Given the description of an element on the screen output the (x, y) to click on. 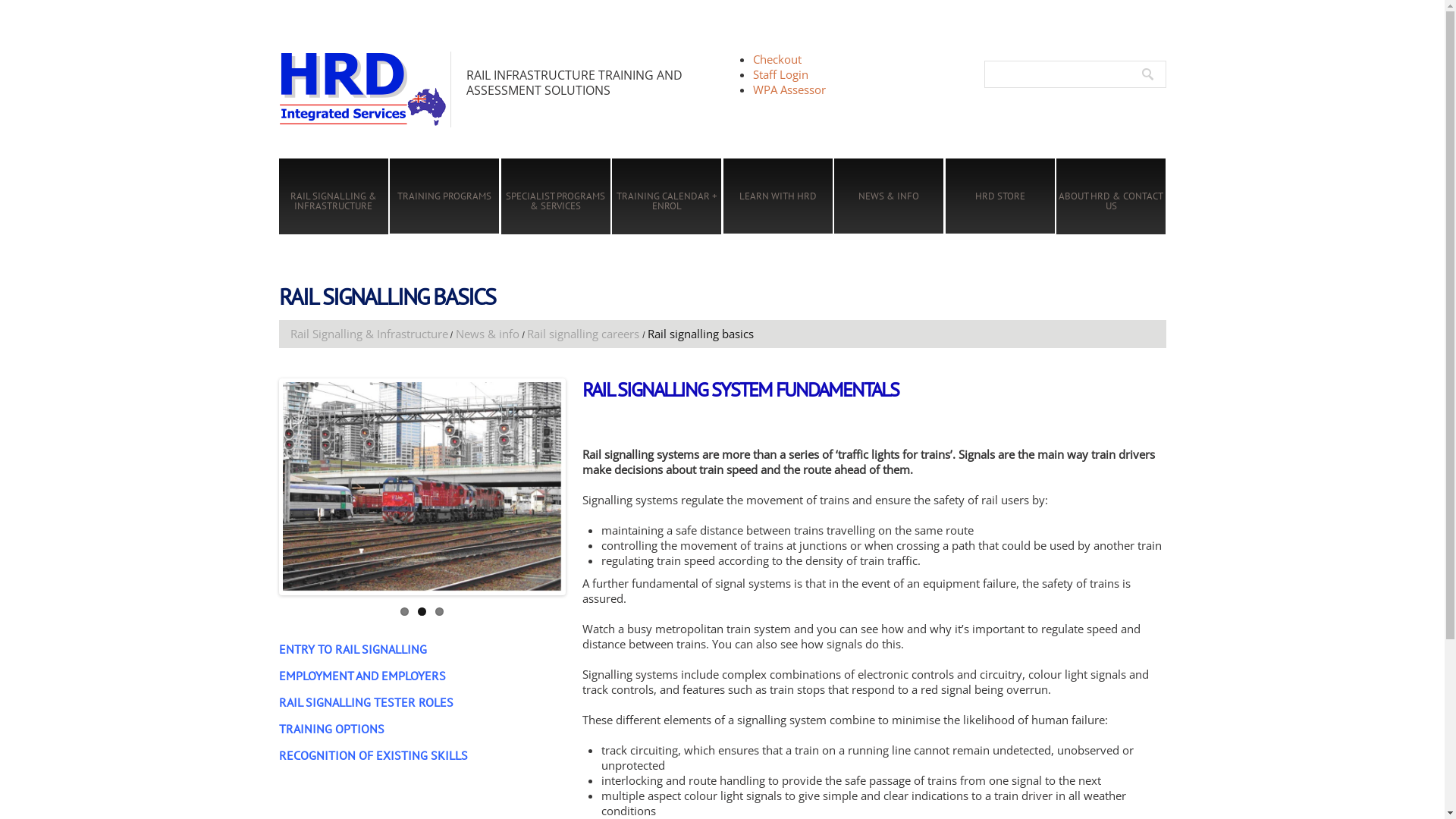
Checkout Element type: text (776, 58)
ABOUT HRD & CONTACT US Element type: text (1110, 200)
News & info Element type: text (487, 333)
RAIL SIGNALLING TESTER ROLES Element type: text (366, 701)
LEARN WITH HRD Element type: text (777, 195)
2 Element type: text (421, 611)
Rail infrastructure training and assessment solutions Element type: hover (364, 89)
Go Element type: text (1154, 74)
TRAINING OPTIONS Element type: text (331, 727)
RECOGNITION OF EXISTING SKILLS Element type: text (373, 754)
Rail Signalling & Infrastructure Element type: text (368, 333)
Rail signalling careers Element type: text (583, 333)
TRAINING PROGRAMS Element type: text (443, 195)
HRD STORE Element type: text (999, 195)
Spencer Street Yard Signals Element type: hover (422, 486)
1 Element type: text (404, 611)
NEWS & INFO Element type: text (888, 195)
3 Element type: text (439, 611)
SPECIALIST PROGRAMS & SERVICES Element type: text (555, 200)
EMPLOYMENT AND EMPLOYERS Element type: text (362, 674)
Staff Login Element type: text (779, 73)
WPA Assessor Element type: text (788, 89)
RAIL SIGNALLING & INFRASTRUCTURE Element type: text (333, 200)
ENTRY TO RAIL SIGNALLING Element type: text (352, 648)
TRAINING CALENDAR + ENROL Element type: text (666, 200)
